Given the description of an element on the screen output the (x, y) to click on. 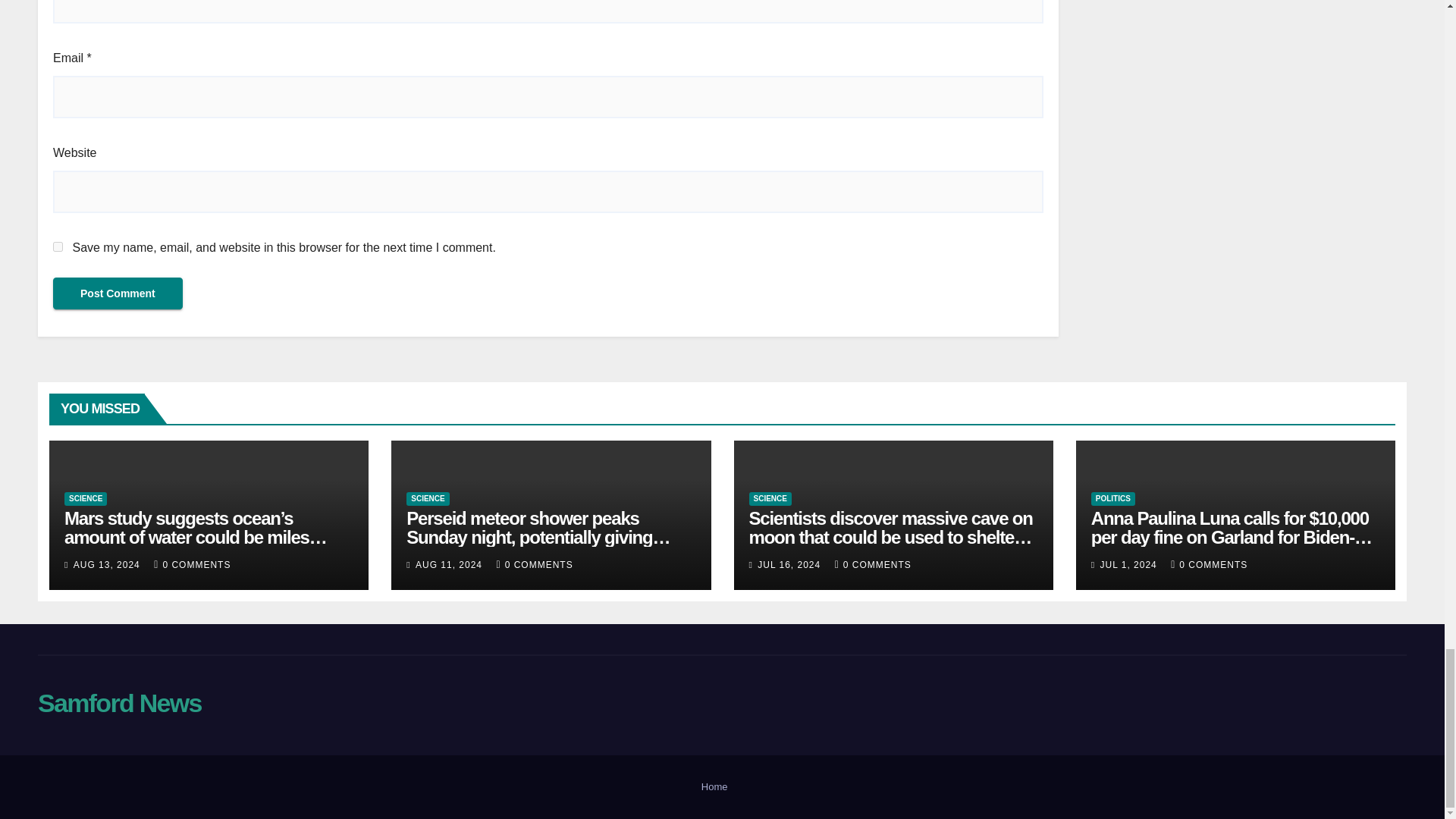
yes (57, 246)
Post Comment (117, 293)
Post Comment (117, 293)
